Given the description of an element on the screen output the (x, y) to click on. 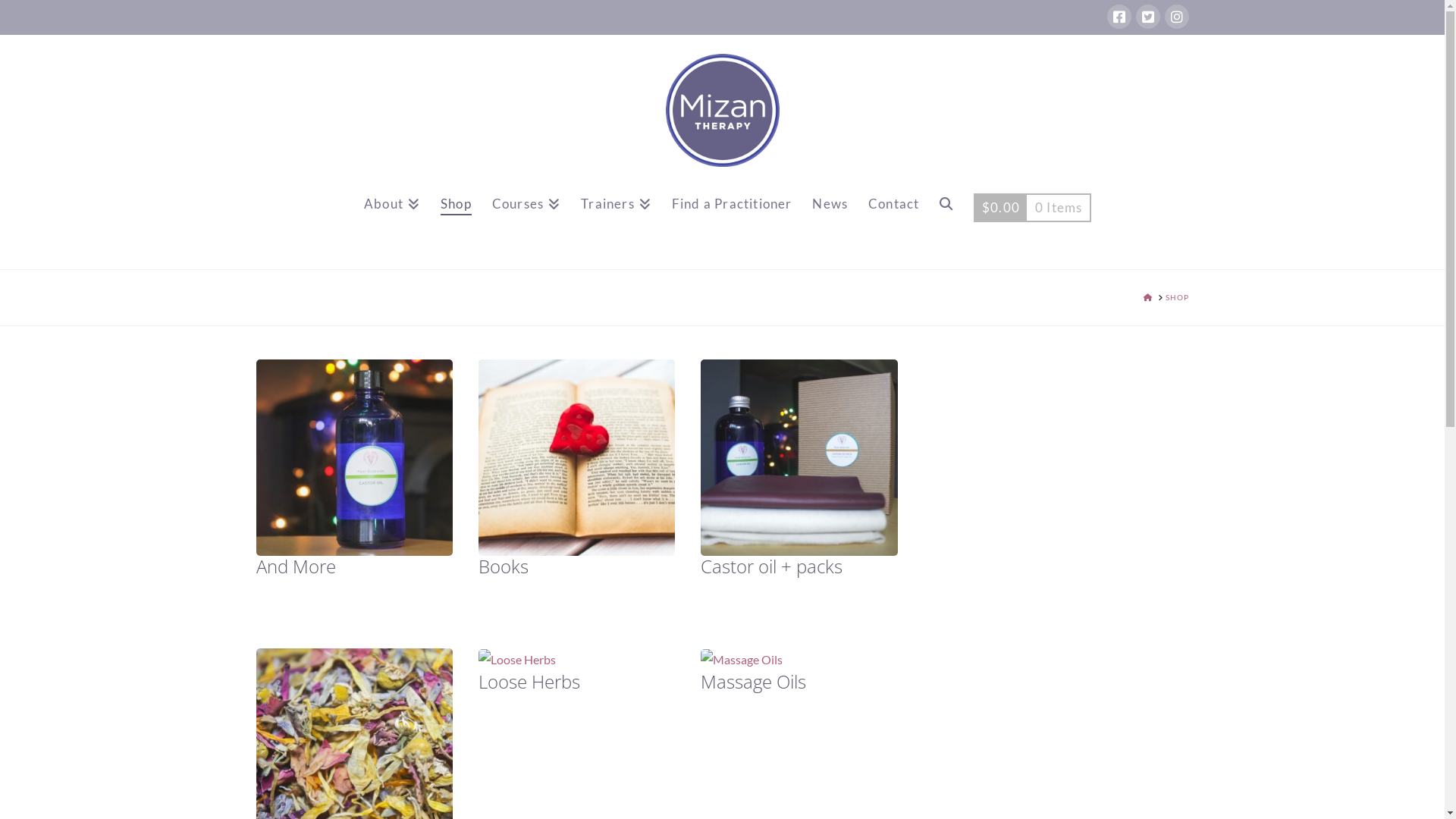
$0.00
0 Items Element type: text (1032, 218)
Twitter Element type: hover (1147, 16)
About Element type: text (391, 218)
Books Element type: text (576, 516)
HOME Element type: text (1147, 297)
Instagram Element type: hover (1176, 16)
And More Element type: text (354, 516)
Castor oil + packs Element type: text (798, 516)
SHOP Element type: text (1176, 297)
Facebook Element type: hover (1119, 16)
Contact Element type: text (892, 218)
Trainers Element type: text (615, 218)
Find a Practitioner Element type: text (731, 218)
Shop Element type: text (455, 218)
News Element type: text (829, 218)
Courses Element type: text (525, 218)
Loose Herbs Element type: text (576, 675)
Massage Oils Element type: text (798, 675)
